Given the description of an element on the screen output the (x, y) to click on. 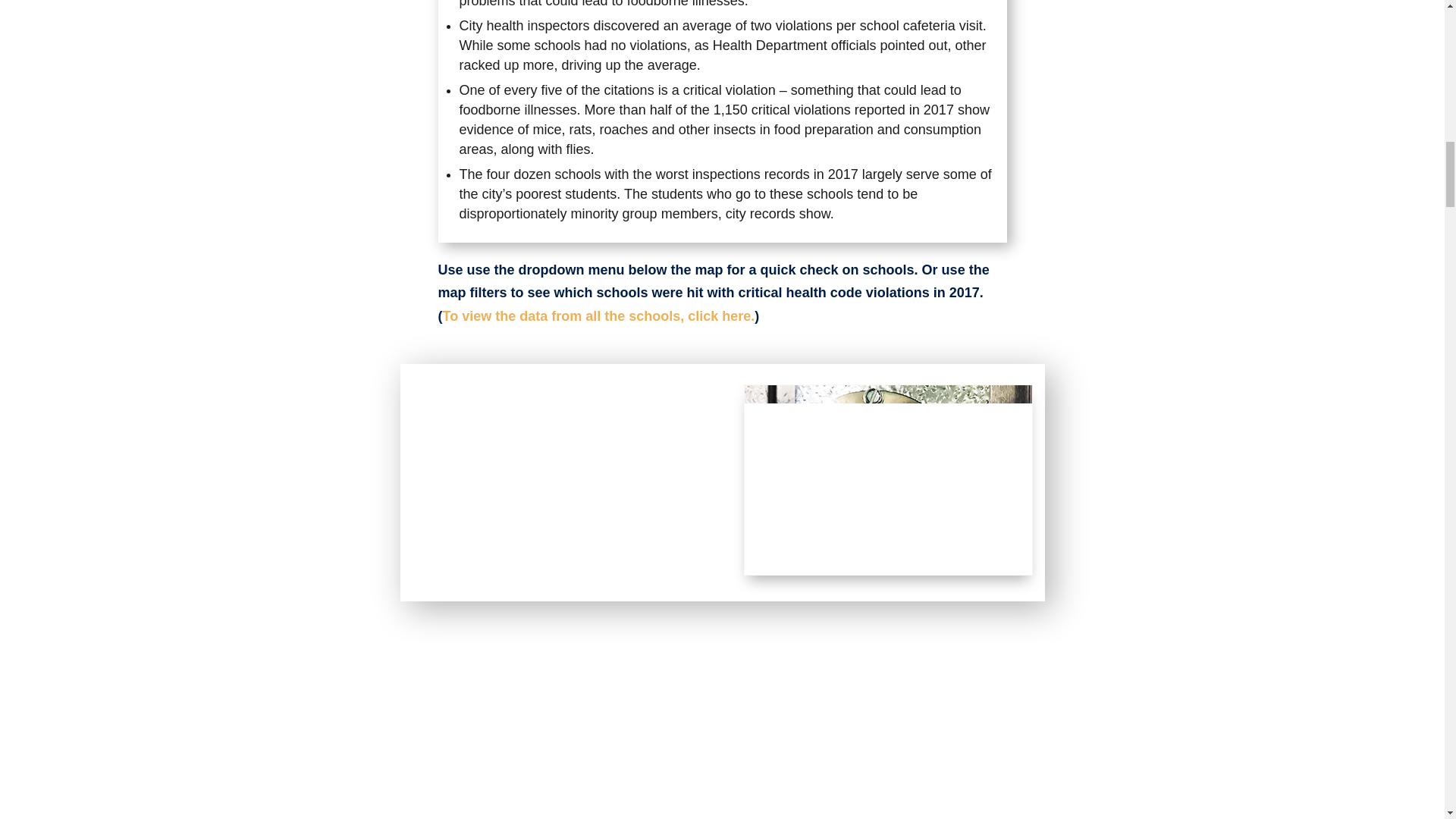
To view the data from all the schools, click here. (598, 315)
